Given the description of an element on the screen output the (x, y) to click on. 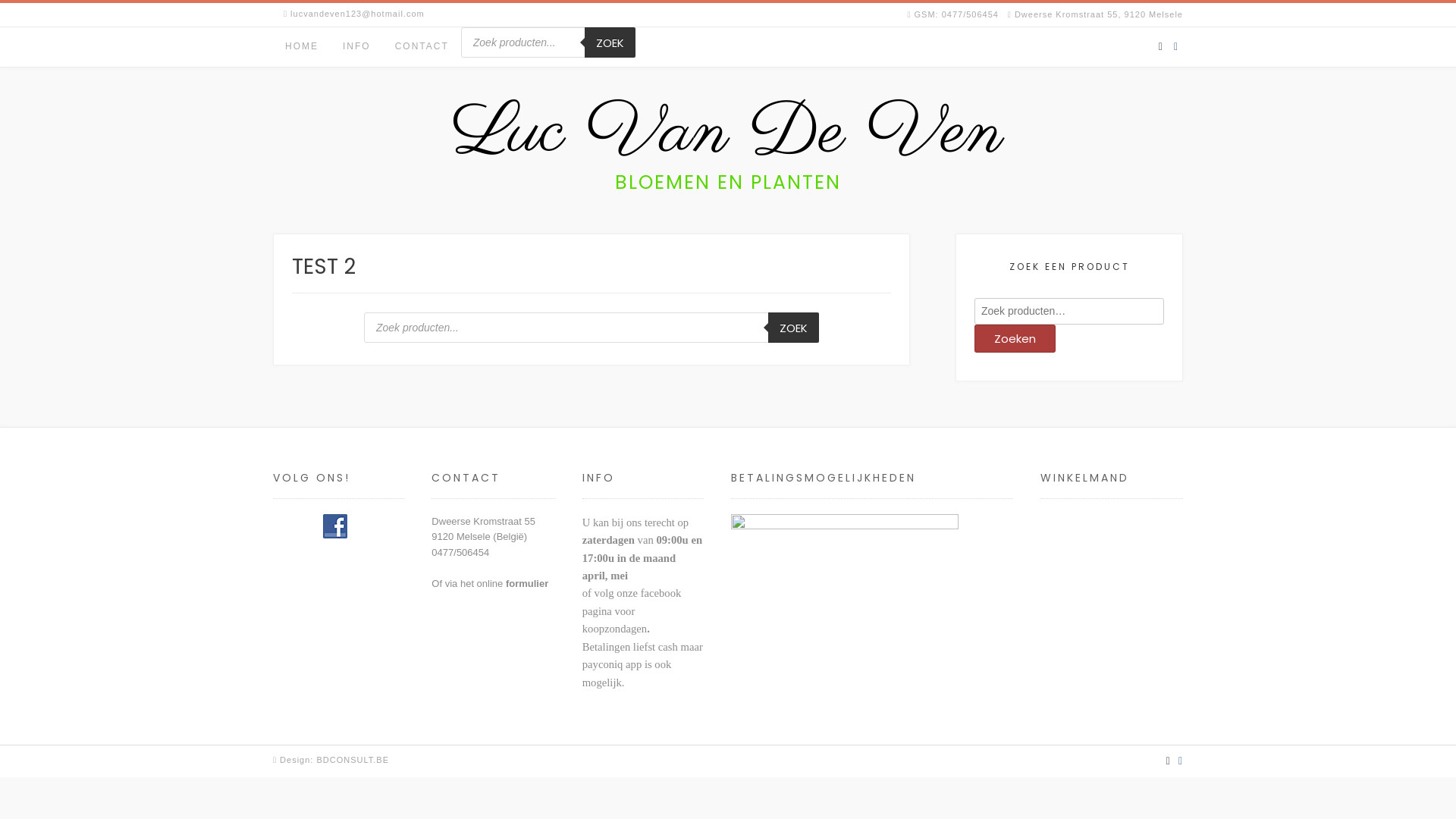
Vind ons op Facebook Element type: hover (1175, 46)
Stuur ons een email Element type: hover (1160, 46)
CONTACT Element type: text (421, 47)
formulier Element type: text (526, 583)
INFO Element type: text (356, 47)
HOME Element type: text (301, 47)
Stuur ons een email Element type: hover (1168, 760)
ZOEK Element type: text (609, 42)
Volg ons op Facebook Element type: hover (335, 526)
Vind ons op Facebook Element type: hover (1180, 760)
Zoeken Element type: text (1014, 338)
Luc Van De Ven Element type: text (727, 133)
ZOEK Element type: text (793, 327)
